Given the description of an element on the screen output the (x, y) to click on. 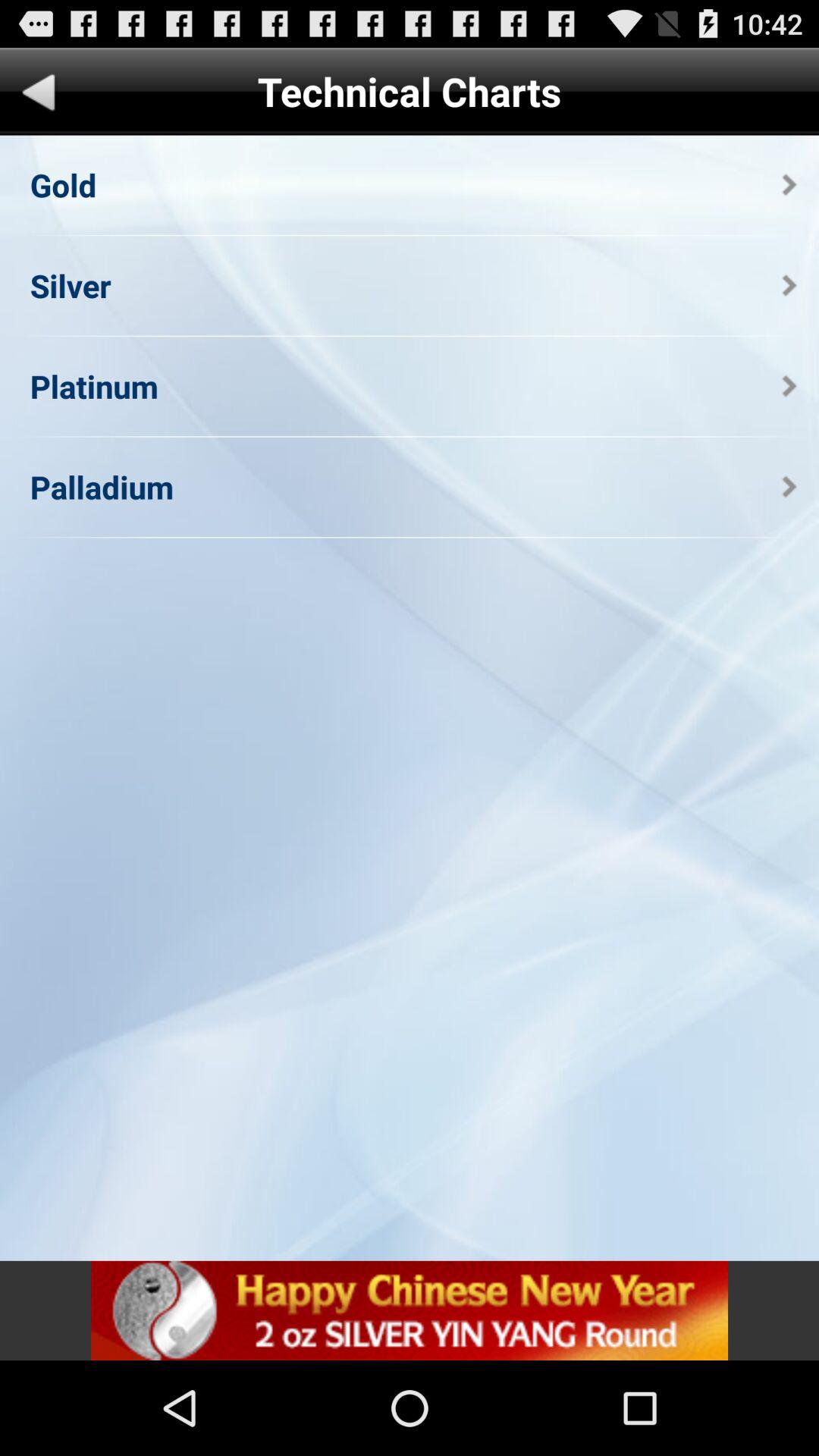
select platinum (94, 385)
